Given the description of an element on the screen output the (x, y) to click on. 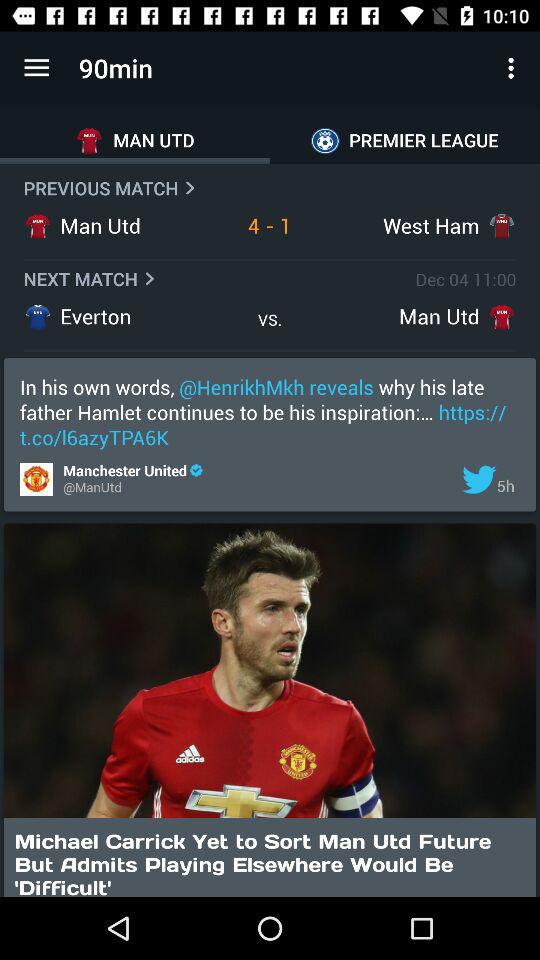
tap the app to the right of 90min icon (513, 67)
